Given the description of an element on the screen output the (x, y) to click on. 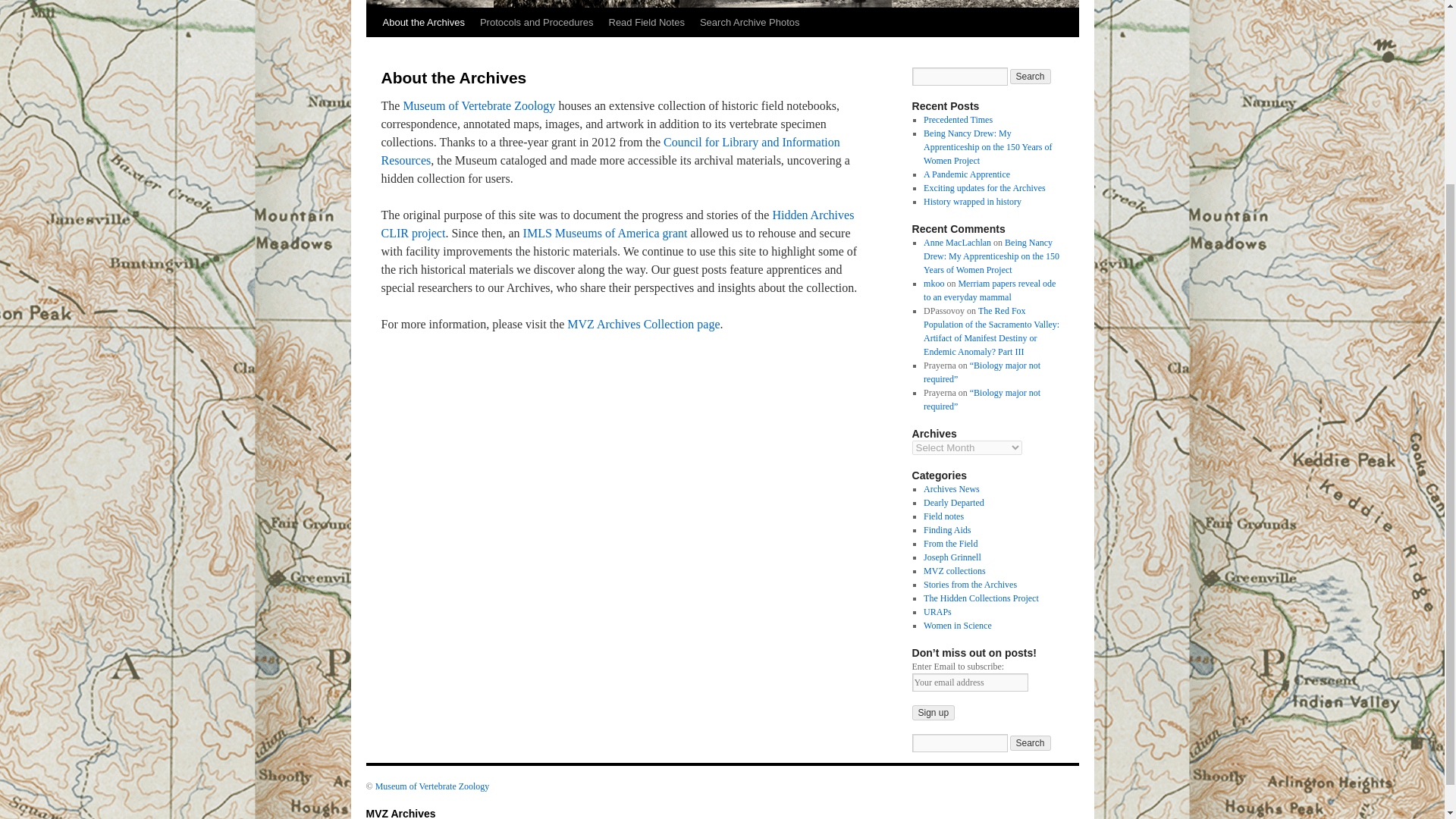
Joseph Grinnell (952, 557)
The Hidden Collections Project (981, 597)
From the Field (949, 543)
About the Archives (422, 22)
Search (1030, 743)
Field notes (943, 516)
MVZ collections (954, 570)
Finding Aids (947, 529)
History wrapped in history (972, 201)
Protocols and Procedures (536, 22)
A Pandemic Apprentice (966, 173)
Search (1030, 76)
Merriam papers reveal ode to an everyday mammal (989, 290)
Exciting updates for the Archives (984, 187)
MVZ Archive Project (643, 323)
